Given the description of an element on the screen output the (x, y) to click on. 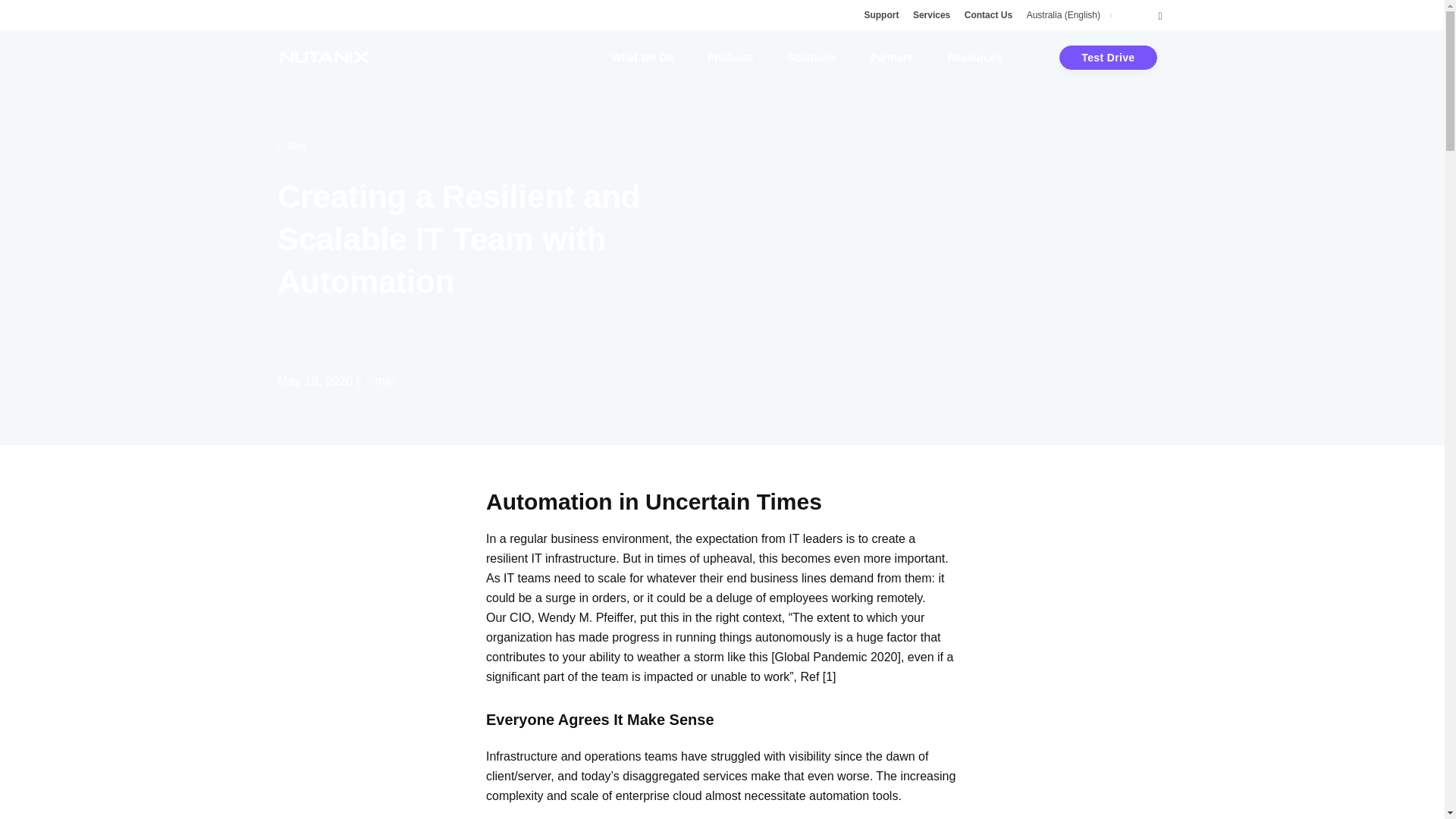
Services (931, 15)
Products (730, 57)
What We Do (641, 57)
Support (880, 15)
Contact Us (987, 15)
